Given the description of an element on the screen output the (x, y) to click on. 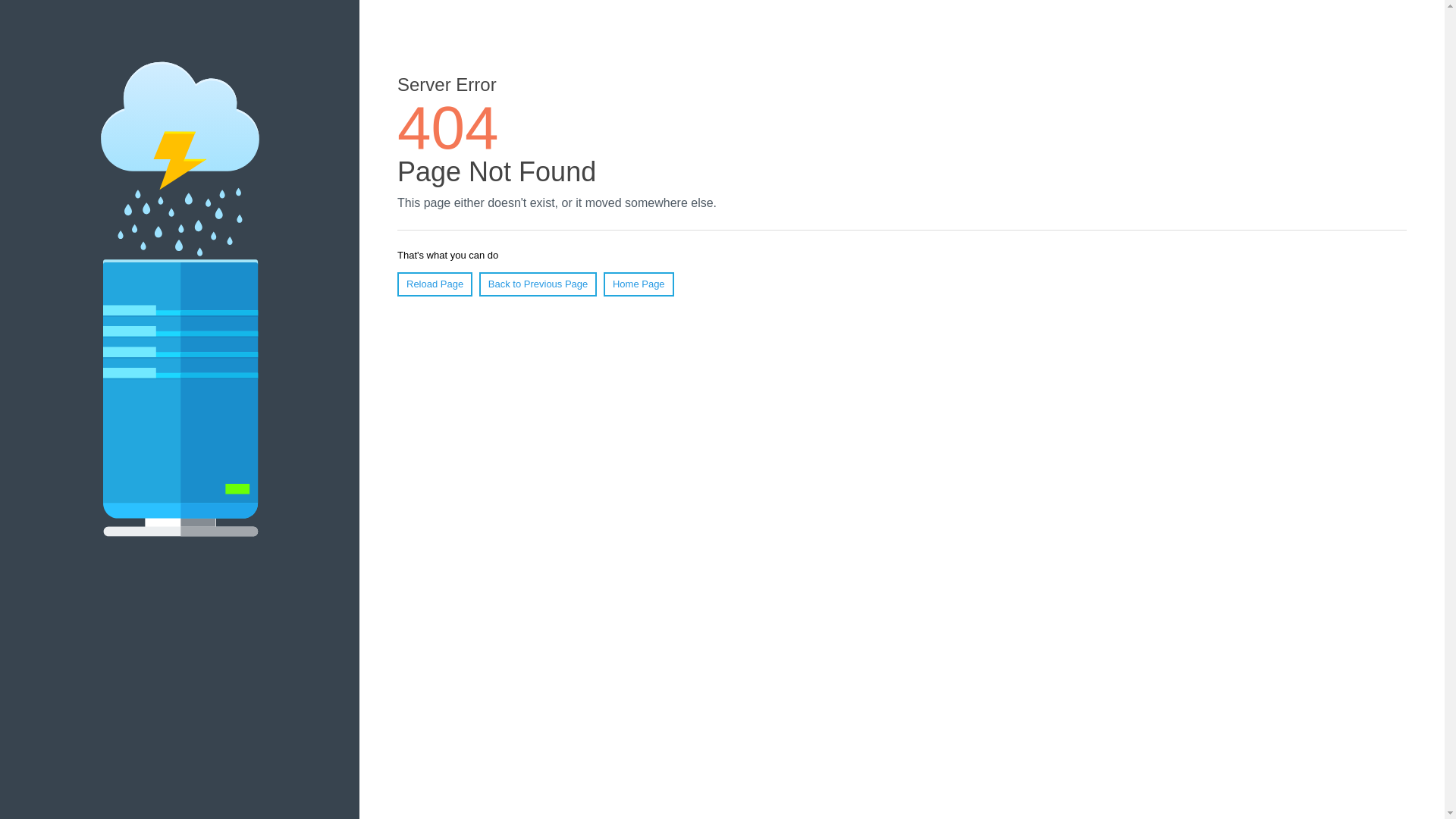
Home Page (639, 283)
Reload Page (434, 283)
Back to Previous Page (537, 283)
